Given the description of an element on the screen output the (x, y) to click on. 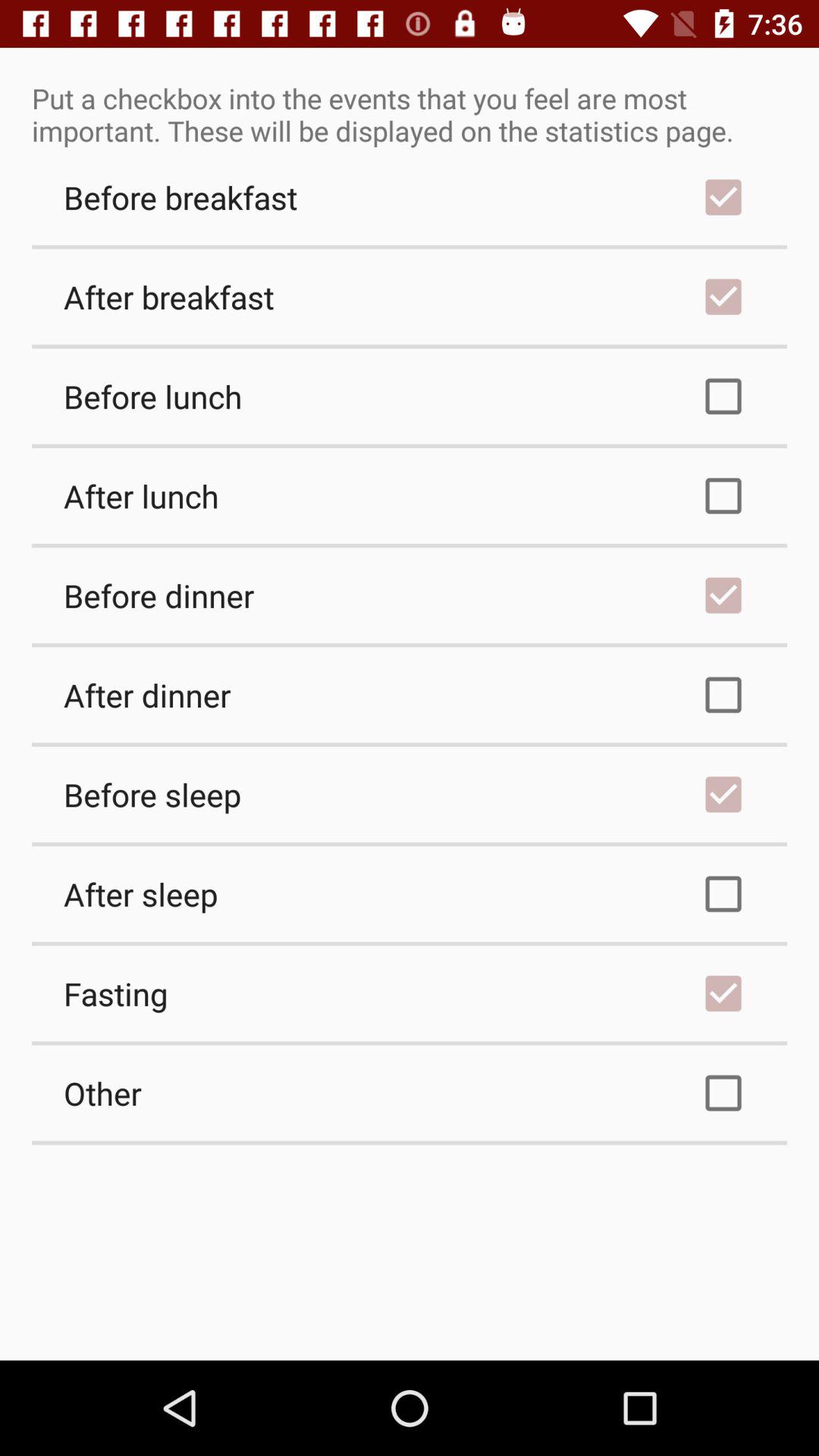
jump to the after breakfast icon (409, 296)
